Given the description of an element on the screen output the (x, y) to click on. 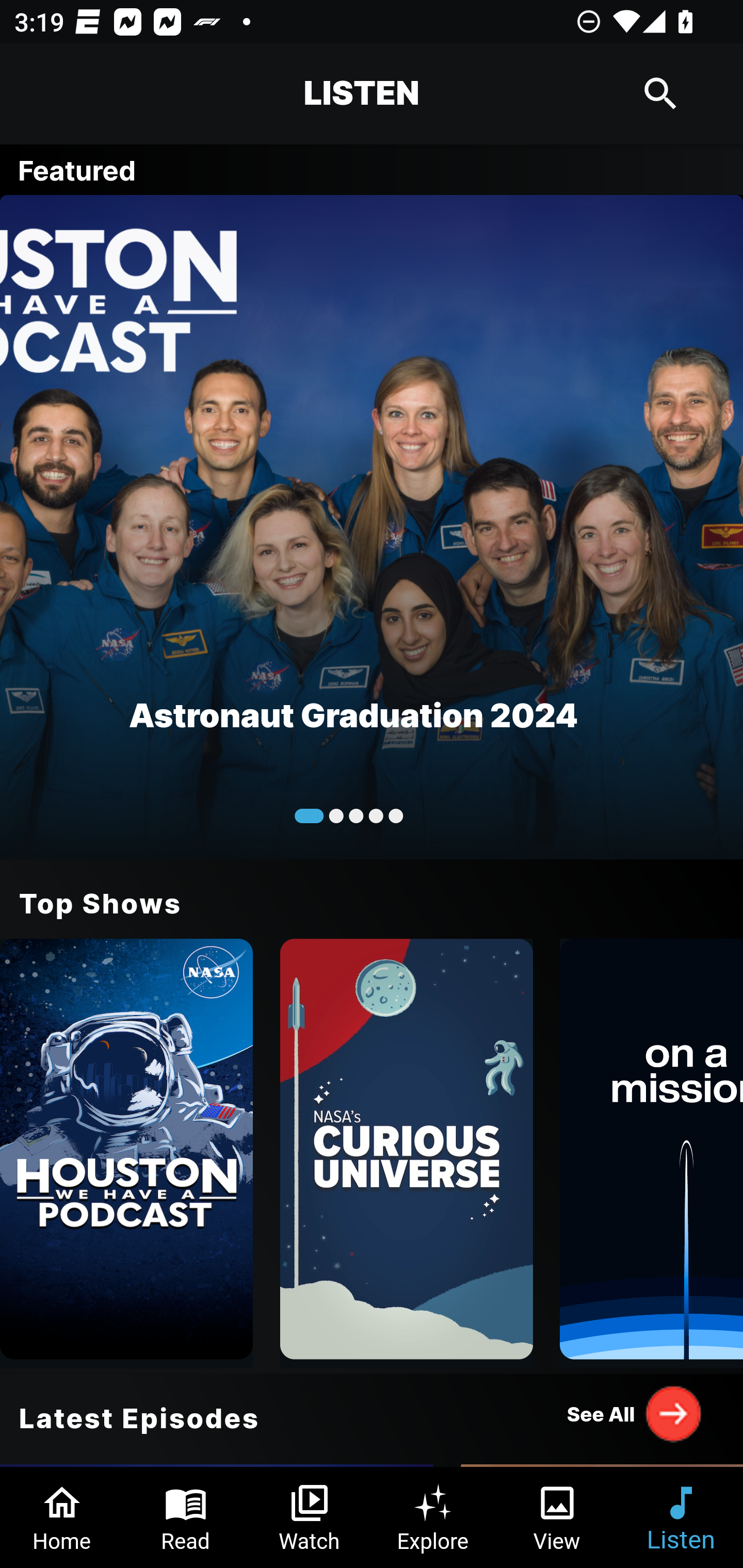
Astronaut Graduation 2024 (371, 526)
See All (634, 1413)
Home
Tab 1 of 6 (62, 1517)
Read
Tab 2 of 6 (185, 1517)
Watch
Tab 3 of 6 (309, 1517)
Explore
Tab 4 of 6 (433, 1517)
View
Tab 5 of 6 (556, 1517)
Listen
Tab 6 of 6 (680, 1517)
